Given the description of an element on the screen output the (x, y) to click on. 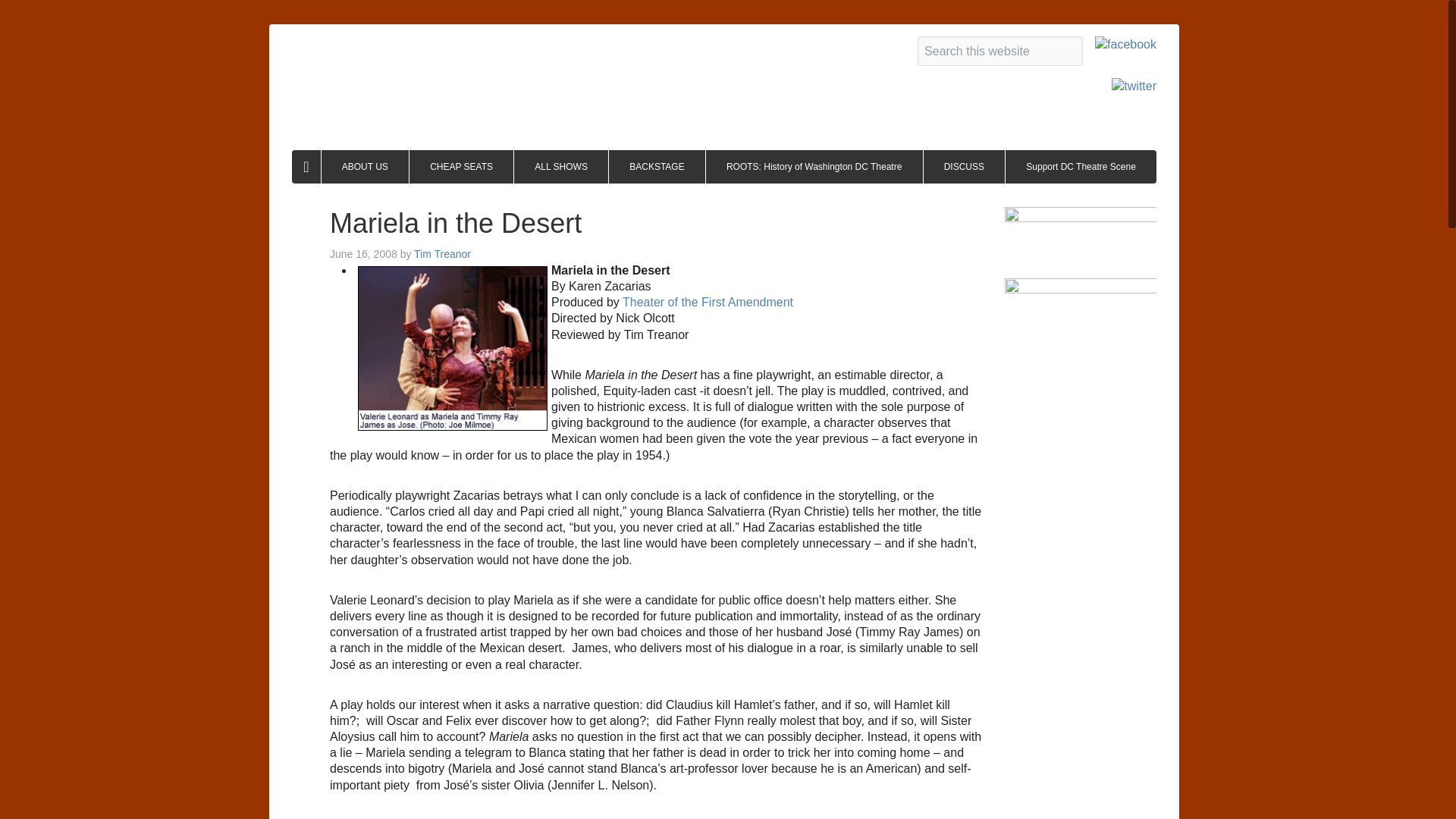
Support DC Theatre Scene (1081, 166)
Follow DC Theatre Scene on Twitter (1134, 87)
Theater of the First Amendment (708, 301)
ROOTS: History of Washington DC Theatre (814, 166)
ALL SHOWS (560, 166)
DC Theatre Scene (474, 70)
ABOUT US (365, 166)
Follow DC Theatre Scene on Facebook (1125, 45)
